Given the description of an element on the screen output the (x, y) to click on. 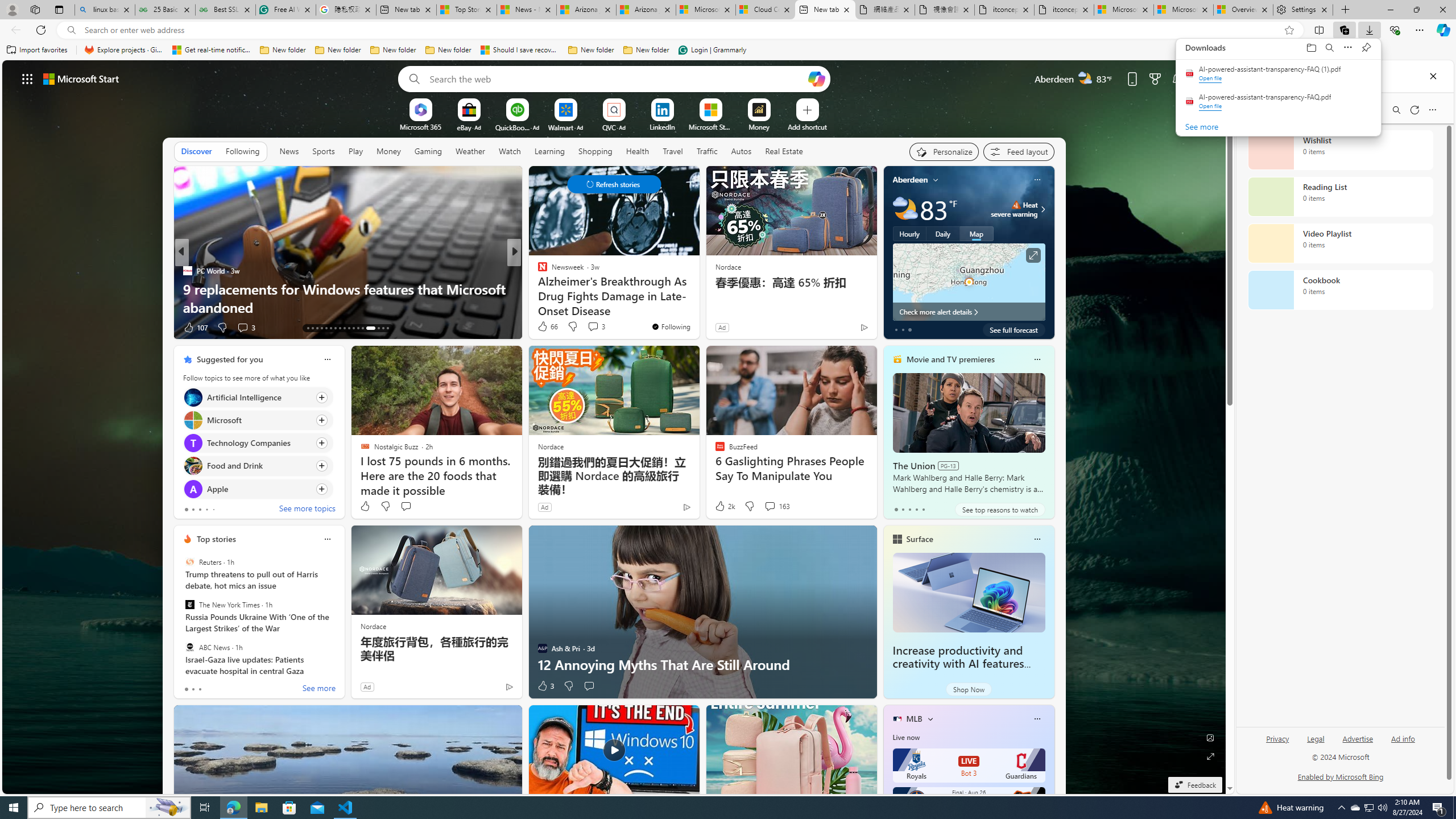
Notifications (1177, 78)
Autos (740, 151)
Microsoft Services Agreement (706, 9)
Cloud Computing Services | Microsoft Azure (765, 9)
AutomationID: tab-27 (378, 328)
Body Network (537, 270)
See full forecast (1013, 329)
Open downloads folder (1311, 47)
View comments 163 Comment (776, 505)
